Given the description of an element on the screen output the (x, y) to click on. 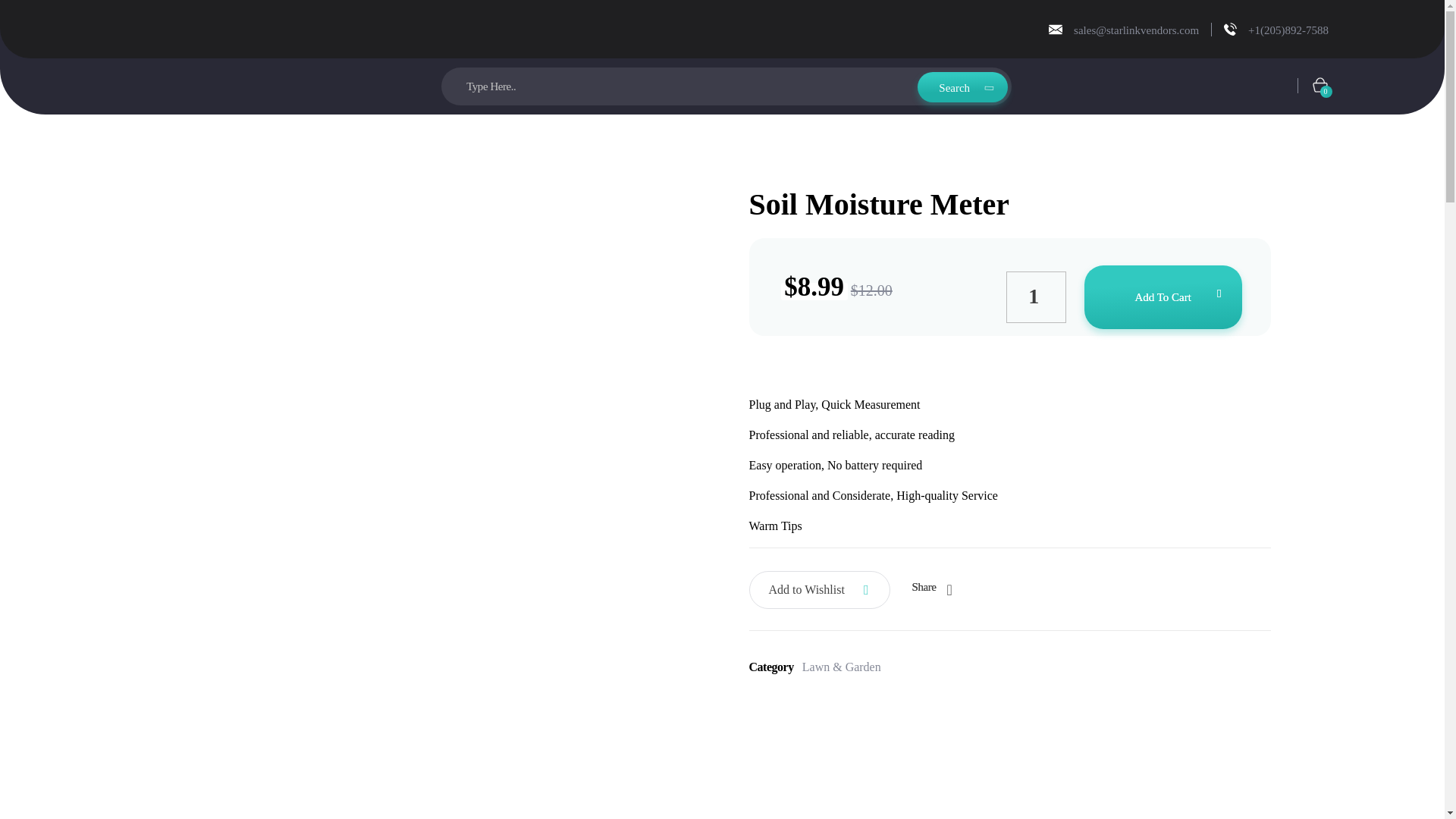
Add To Cart (1162, 297)
Search (962, 73)
Search (962, 80)
1 (1036, 296)
View your shopping cart (1323, 65)
Add to Wishlist (819, 590)
Search (962, 30)
